Given the description of an element on the screen output the (x, y) to click on. 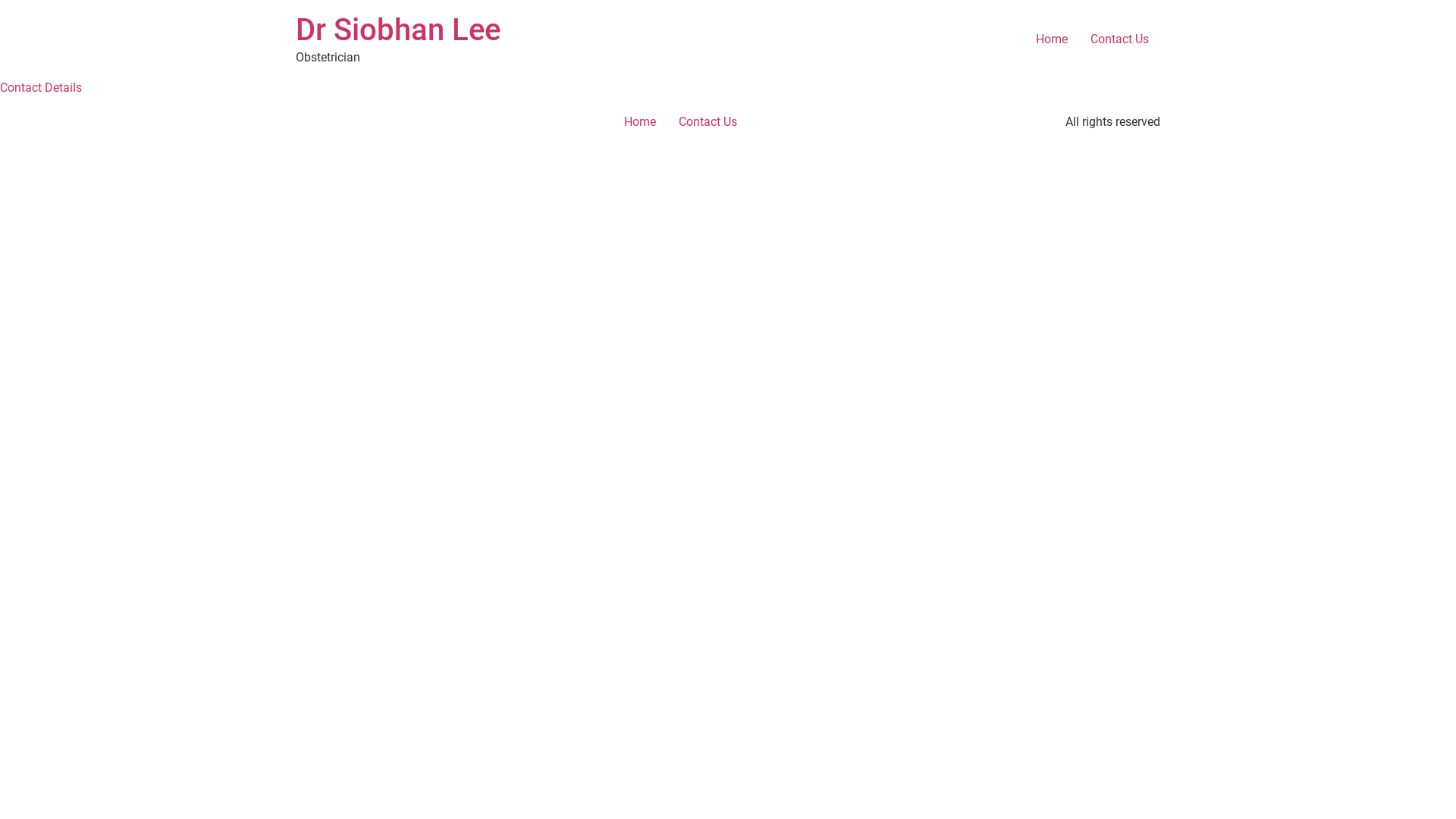
Contact Details Element type: text (40, 87)
Dr Siobhan Lee Element type: text (397, 29)
Contact Us Element type: text (707, 121)
Contact Us Element type: text (1119, 39)
Home Element type: text (1051, 39)
Home Element type: text (639, 121)
